Given the description of an element on the screen output the (x, y) to click on. 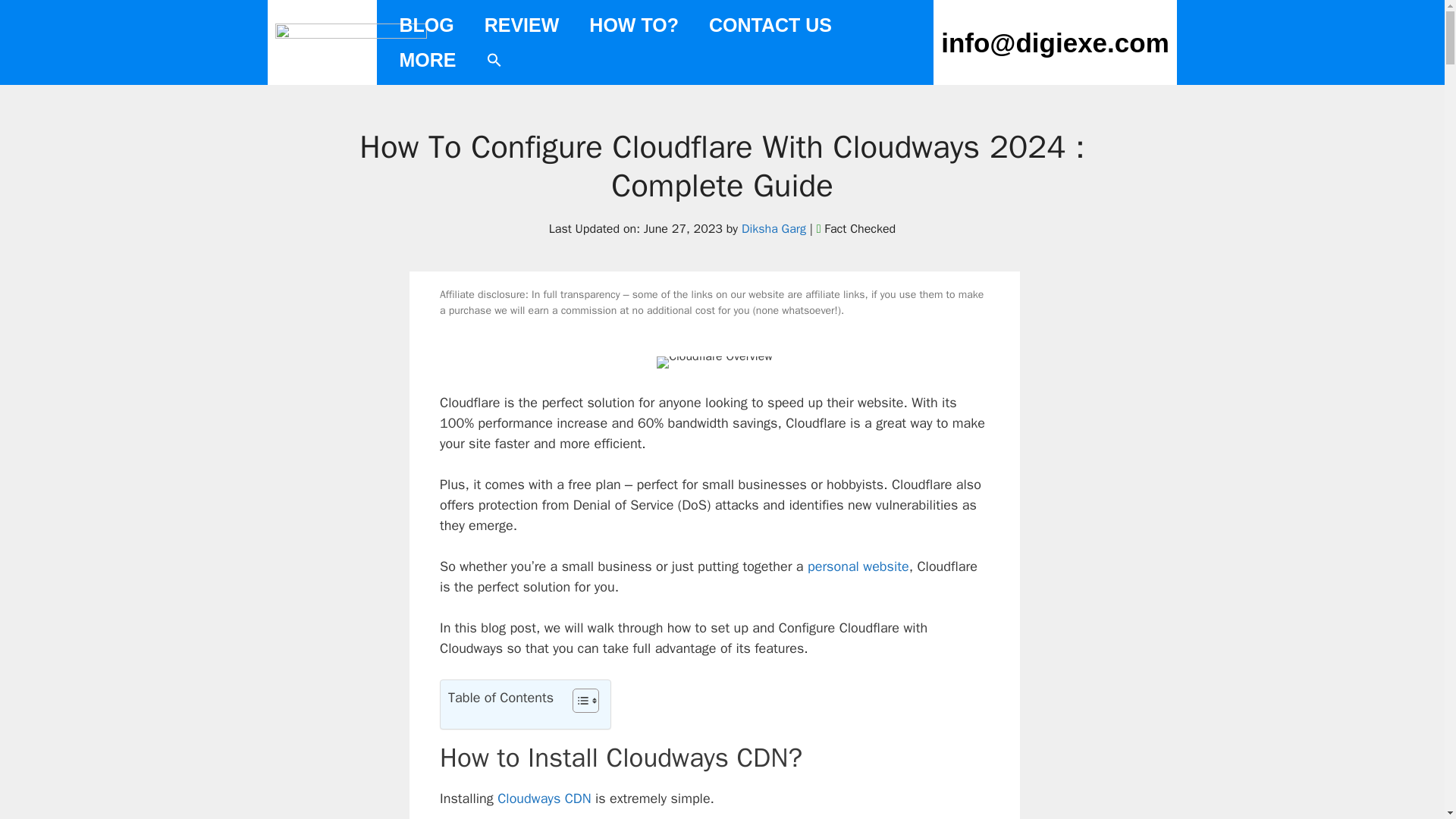
HOW TO? (633, 24)
MORE (427, 59)
View all posts by Diksha Garg (773, 228)
CONTACT US (770, 24)
Diksha Garg (773, 228)
REVIEW (521, 24)
BLOG (426, 24)
personal website (858, 565)
